Given the description of an element on the screen output the (x, y) to click on. 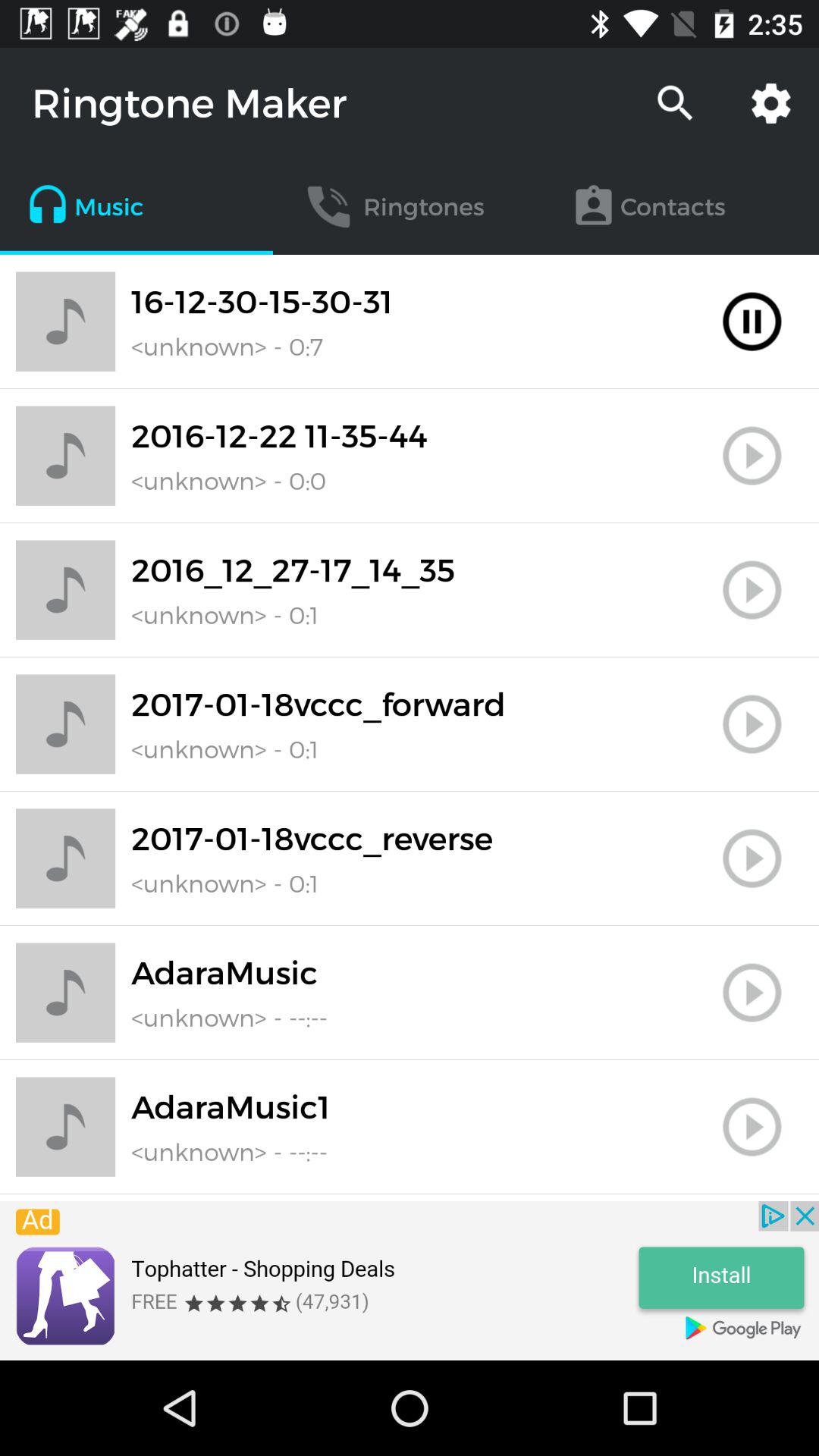
play this audio (752, 724)
